Given the description of an element on the screen output the (x, y) to click on. 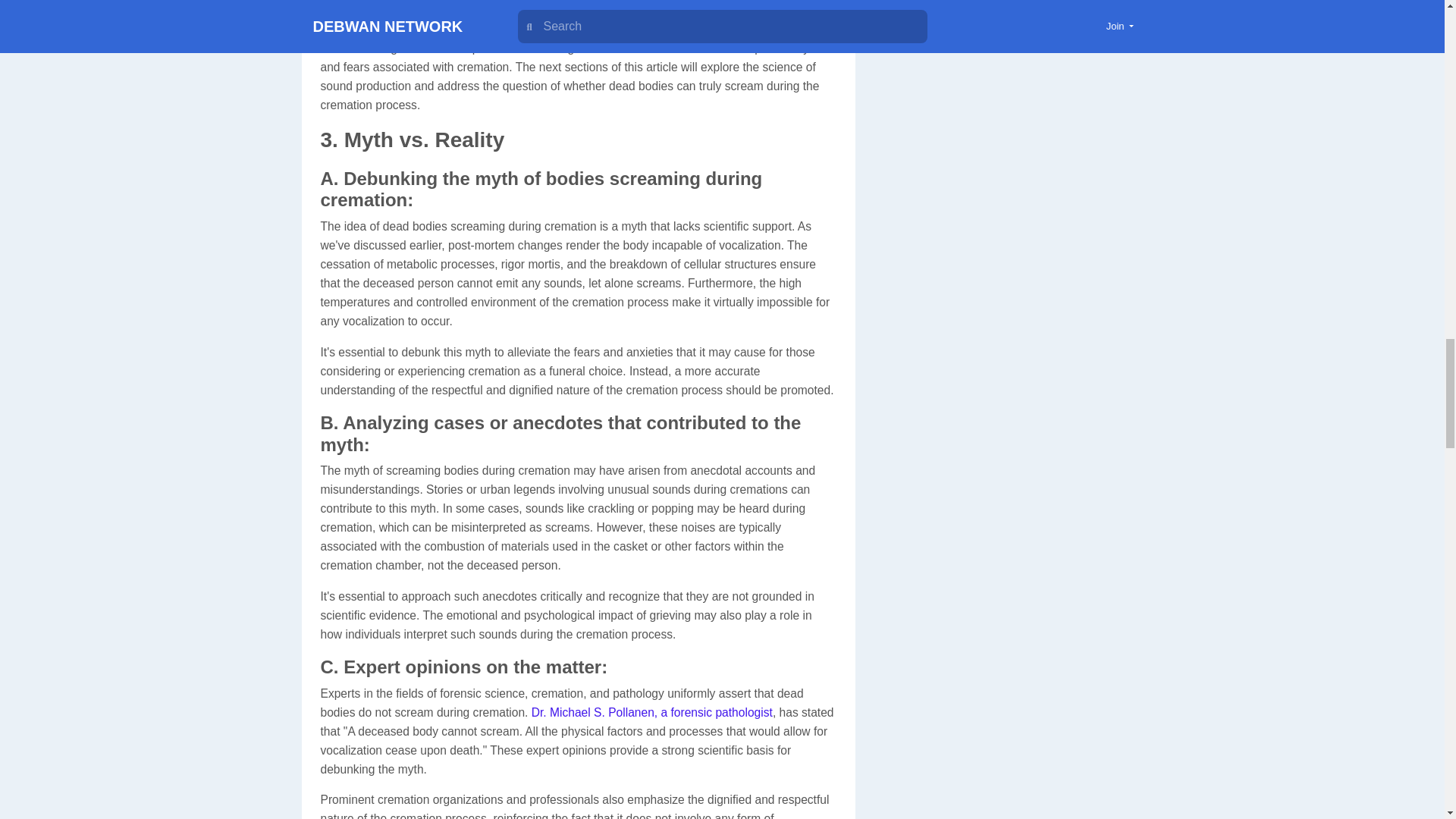
Dr. Michael S. Pollanen, a forensic pathologist (649, 712)
